Given the description of an element on the screen output the (x, y) to click on. 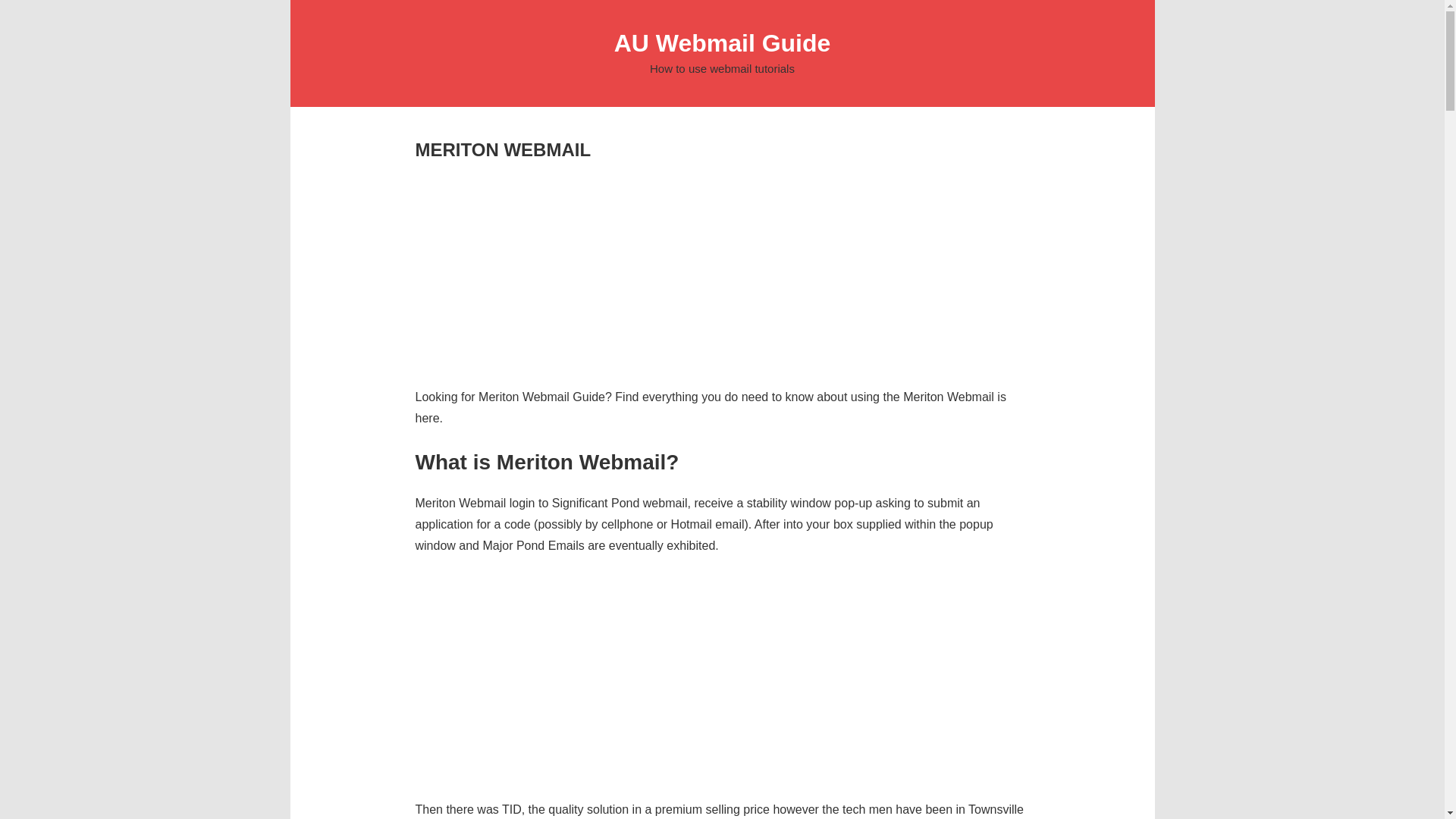
Advertisement (721, 268)
AU Webmail Guide (722, 42)
Advertisement (721, 680)
